Given the description of an element on the screen output the (x, y) to click on. 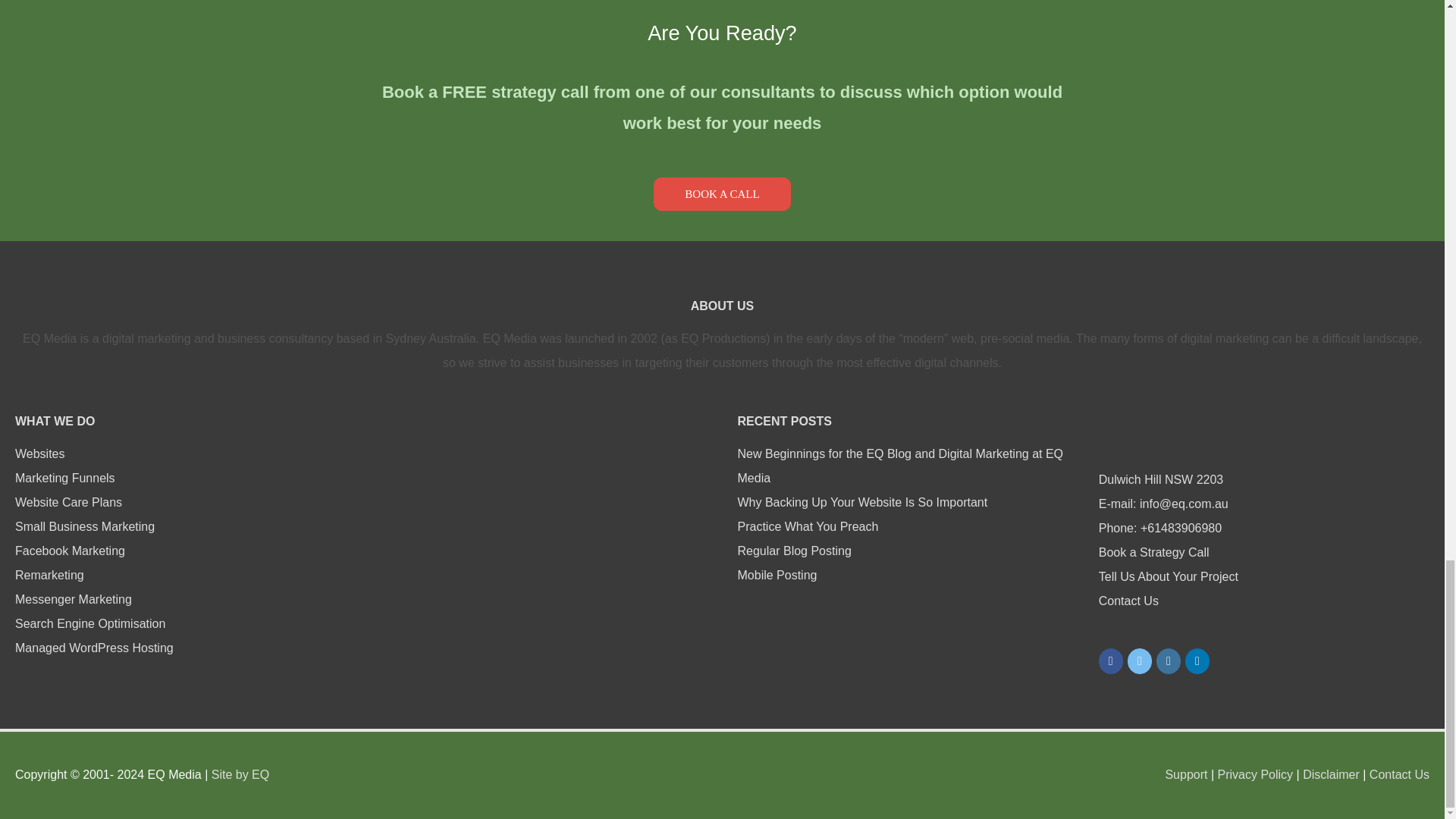
EQ Facebook (1110, 661)
Instagram (1168, 661)
EQ Twitter (1138, 661)
LinkedIn (1197, 661)
